Given the description of an element on the screen output the (x, y) to click on. 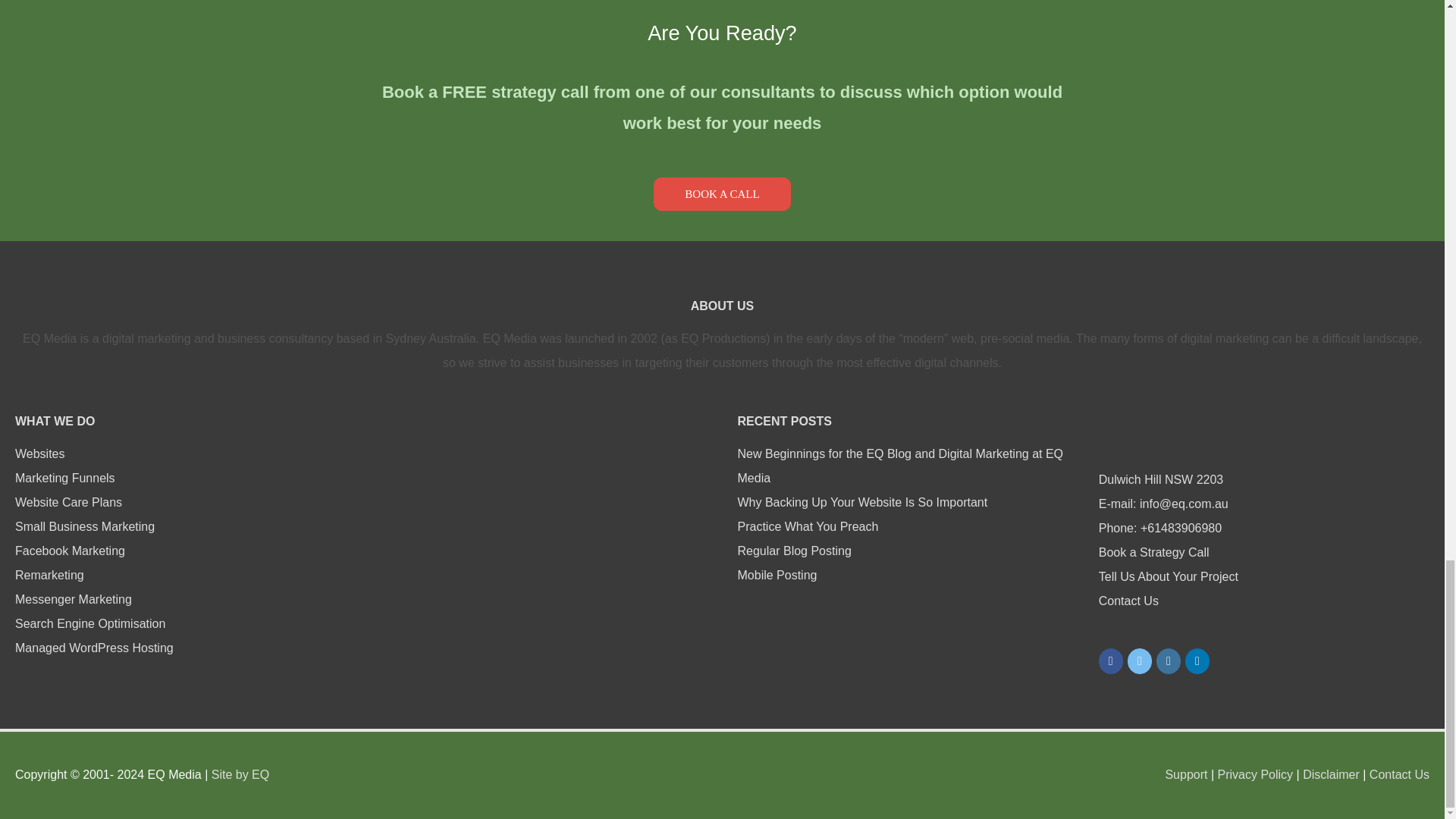
EQ Facebook (1110, 661)
Instagram (1168, 661)
EQ Twitter (1138, 661)
LinkedIn (1197, 661)
